Given the description of an element on the screen output the (x, y) to click on. 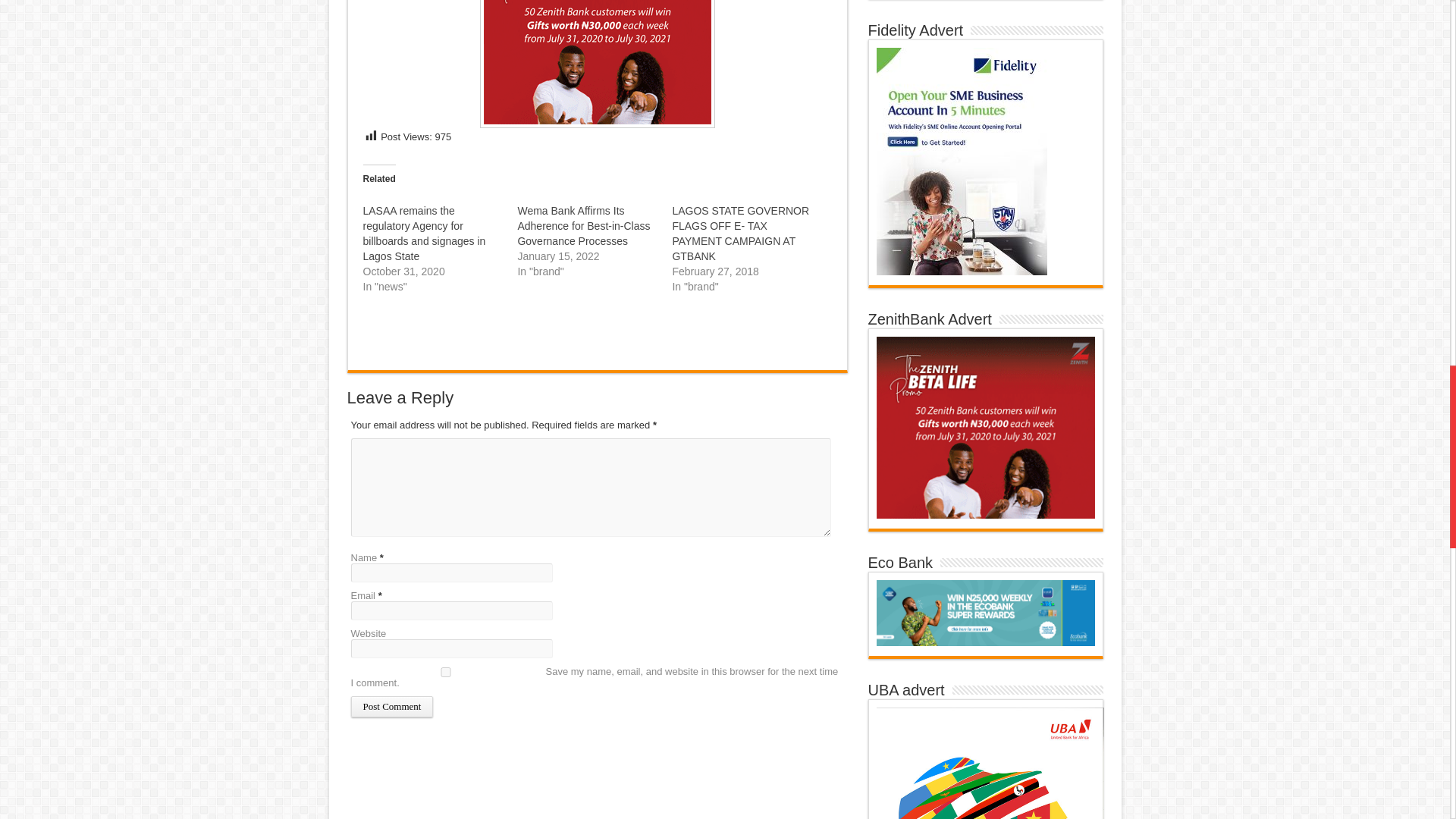
Post Comment (391, 706)
Post Comment (391, 706)
yes (445, 672)
